Given the description of an element on the screen output the (x, y) to click on. 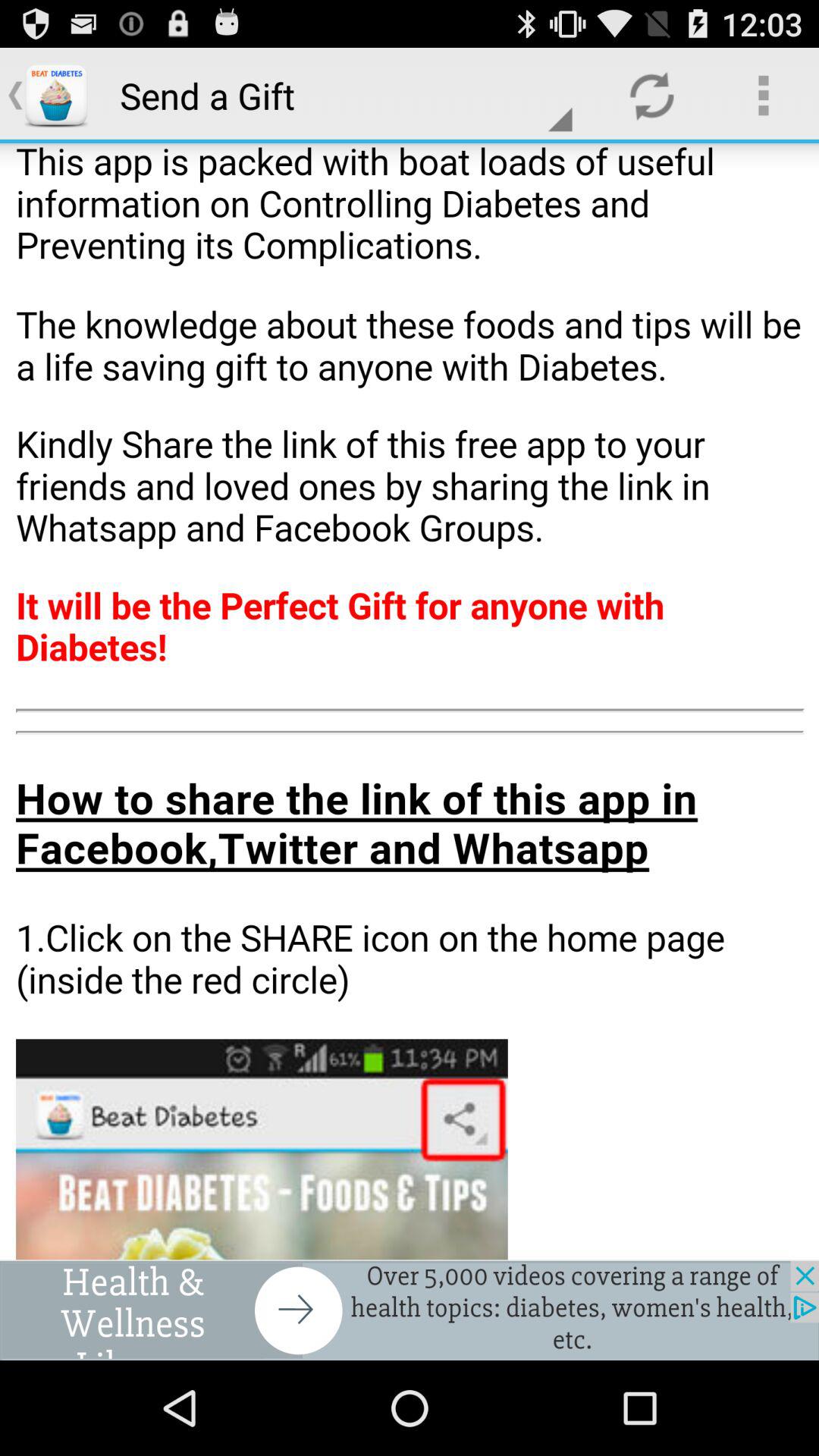
send a gift page (409, 701)
